Given the description of an element on the screen output the (x, y) to click on. 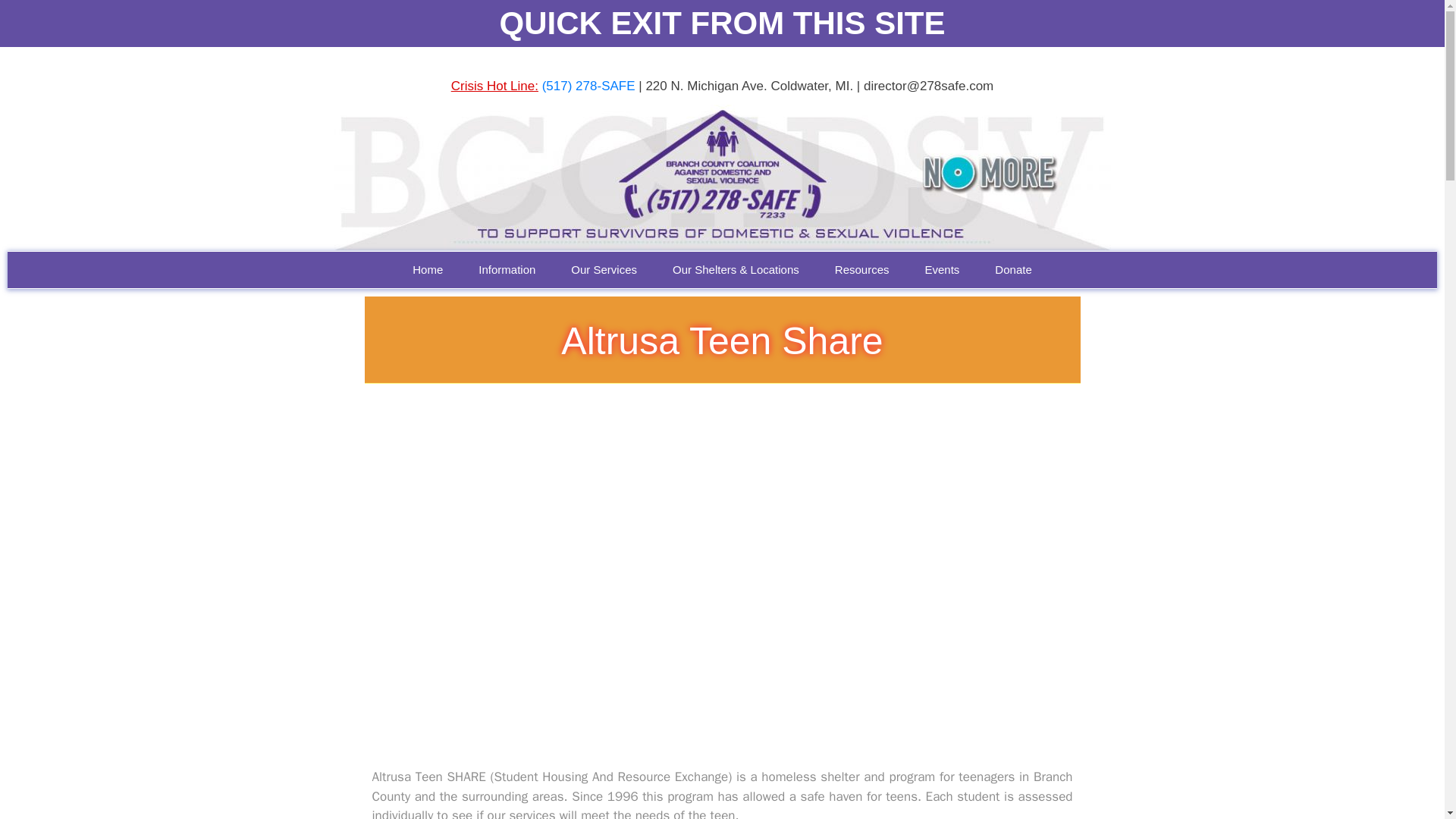
Information (506, 269)
Our Services (604, 269)
Donate (1012, 269)
Events (942, 269)
Resources (861, 269)
Home (427, 269)
